Given the description of an element on the screen output the (x, y) to click on. 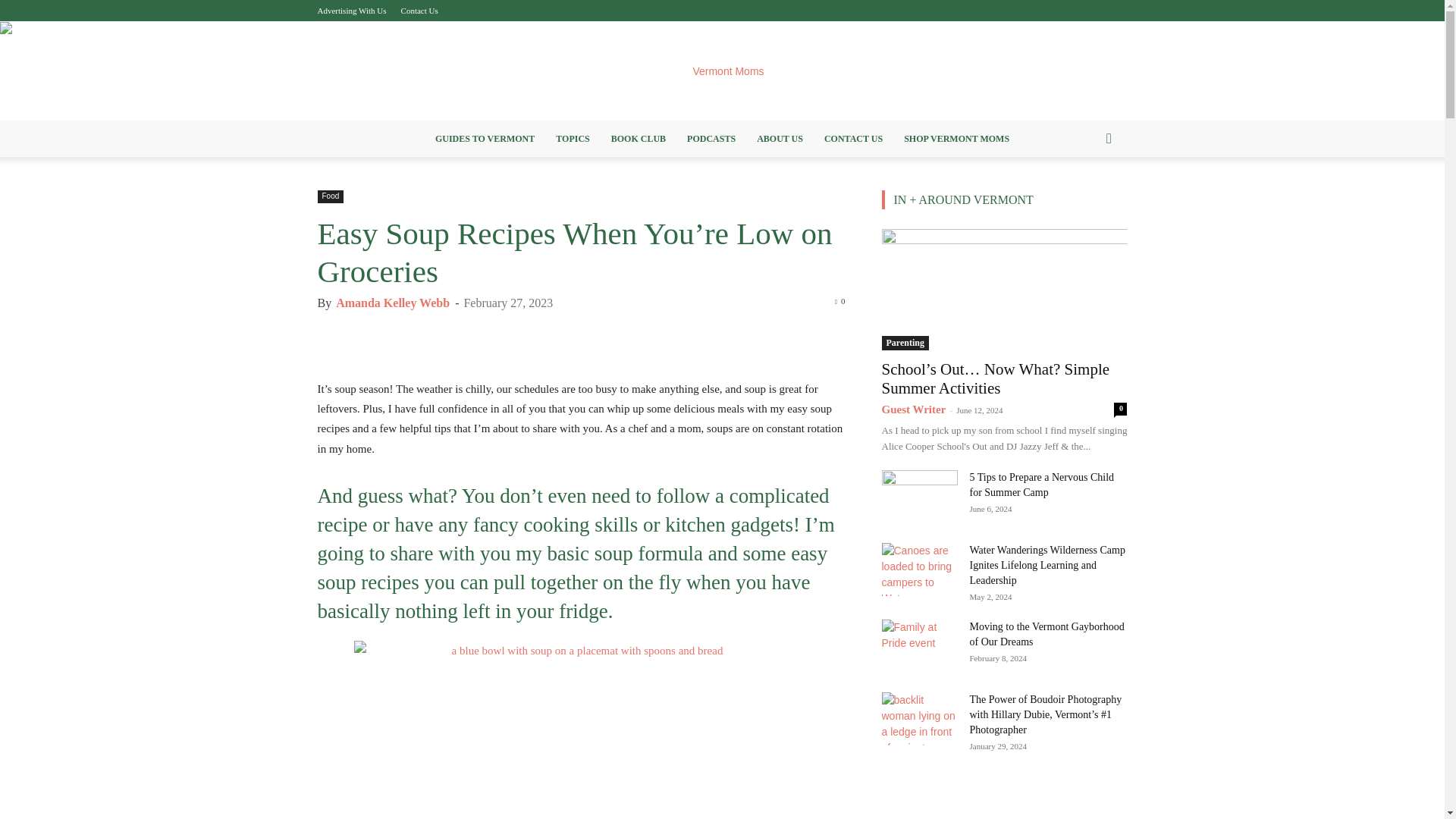
Contact Us (419, 10)
Advertising With Us (351, 10)
